Given the description of an element on the screen output the (x, y) to click on. 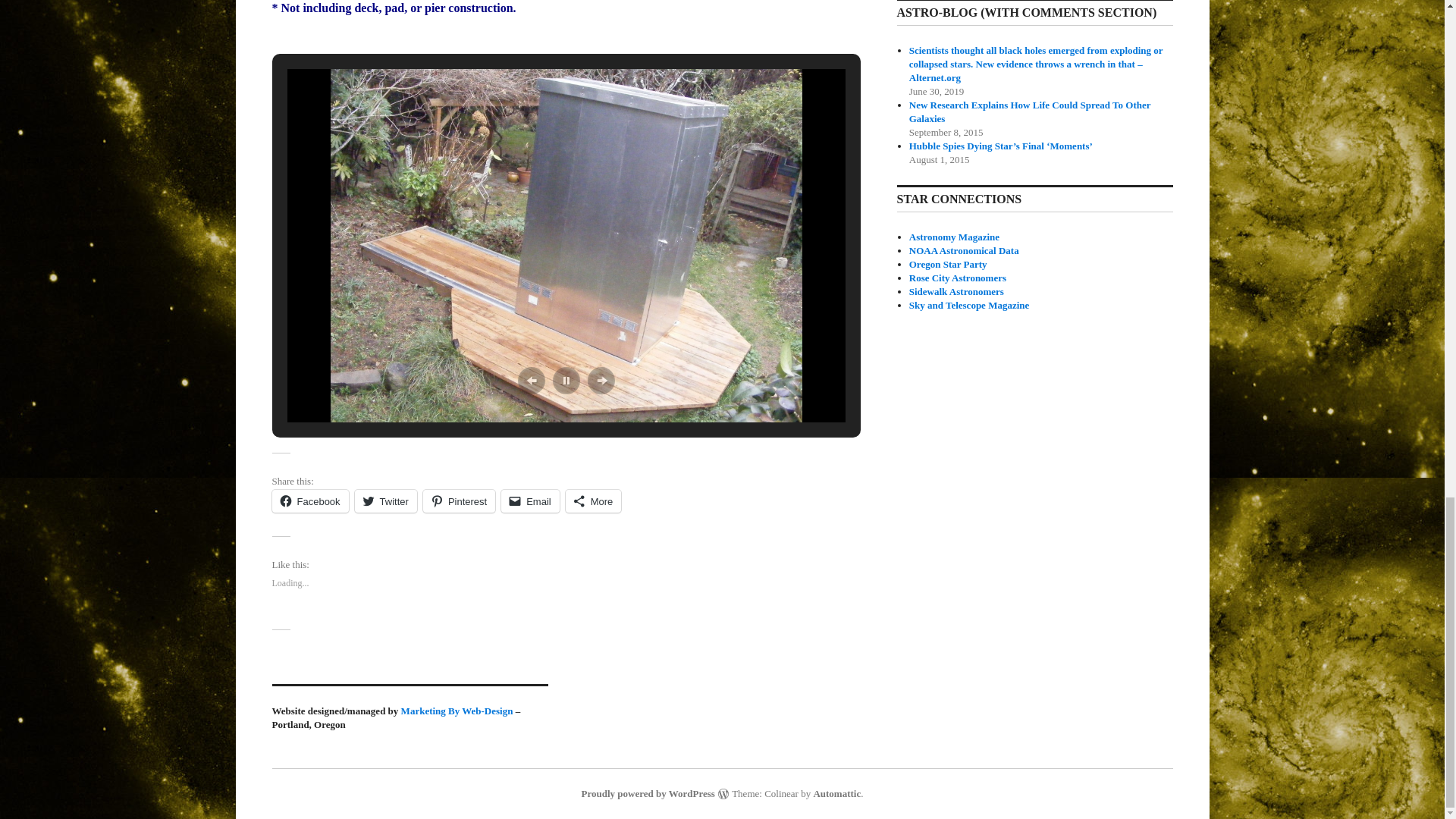
Twitter (385, 500)
Oregon Star Party (947, 264)
Click to share on Twitter (385, 500)
Pinterest (459, 500)
Email (529, 500)
Facebook (308, 500)
Click to share on Facebook (308, 500)
Click to email a link to a friend (529, 500)
